Given the description of an element on the screen output the (x, y) to click on. 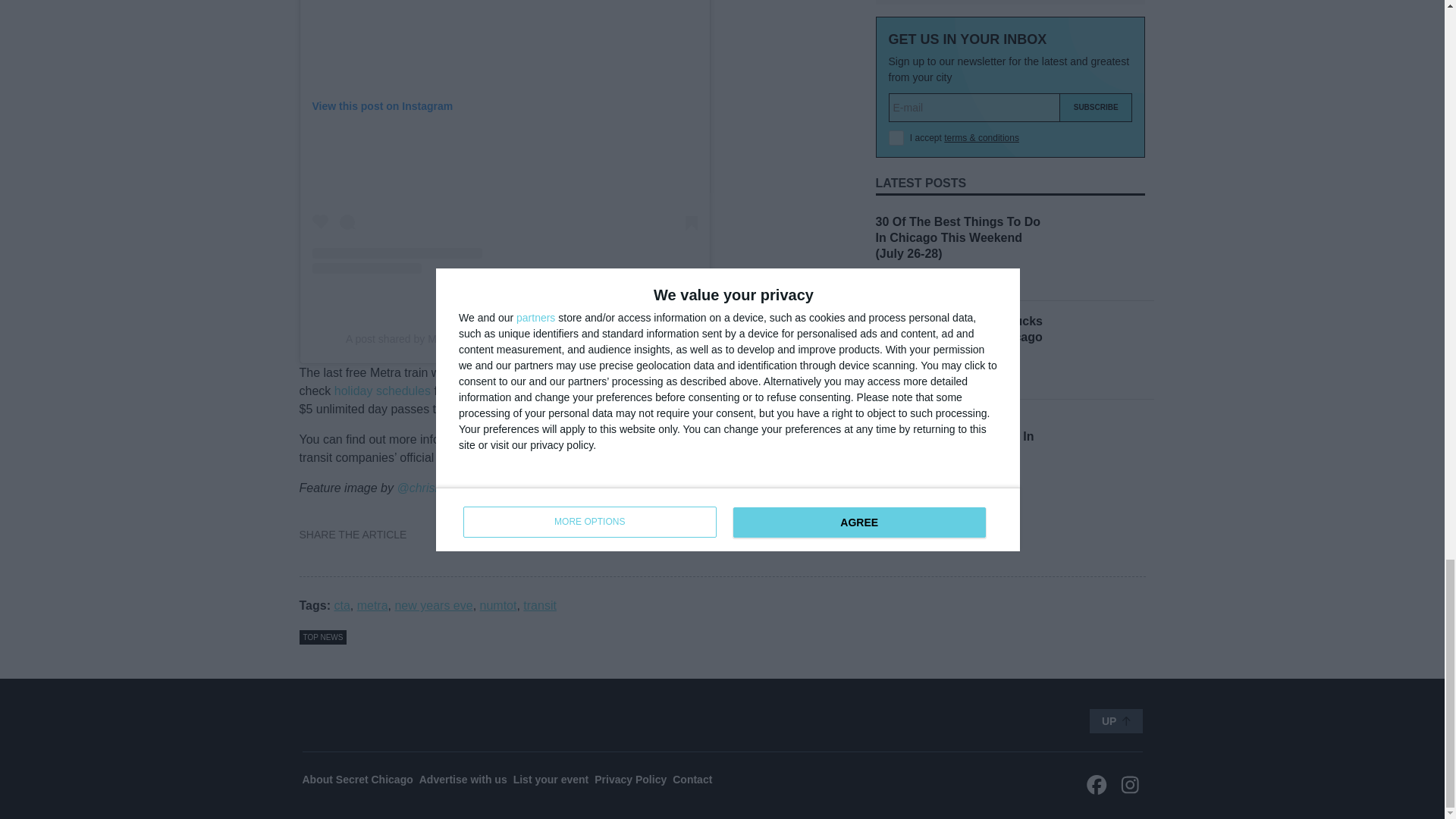
holiday schedules (382, 390)
CTA (529, 439)
Metra (582, 439)
